Given the description of an element on the screen output the (x, y) to click on. 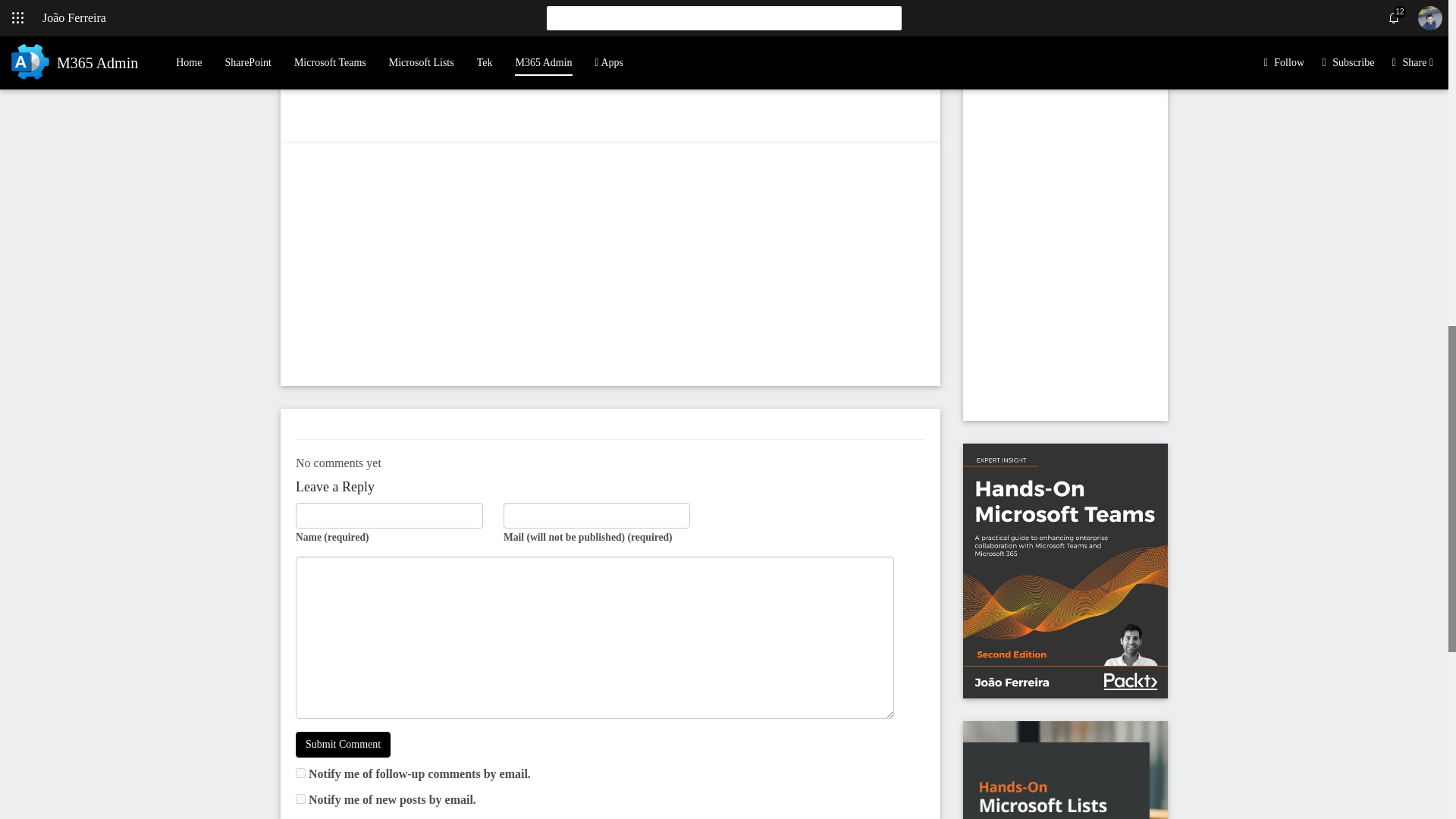
Click to share on Twitter (307, 15)
subscribe (300, 798)
Click to share on Facebook (335, 15)
Submit Comment (342, 744)
subscribe (300, 773)
Submit Comment (342, 744)
